Given the description of an element on the screen output the (x, y) to click on. 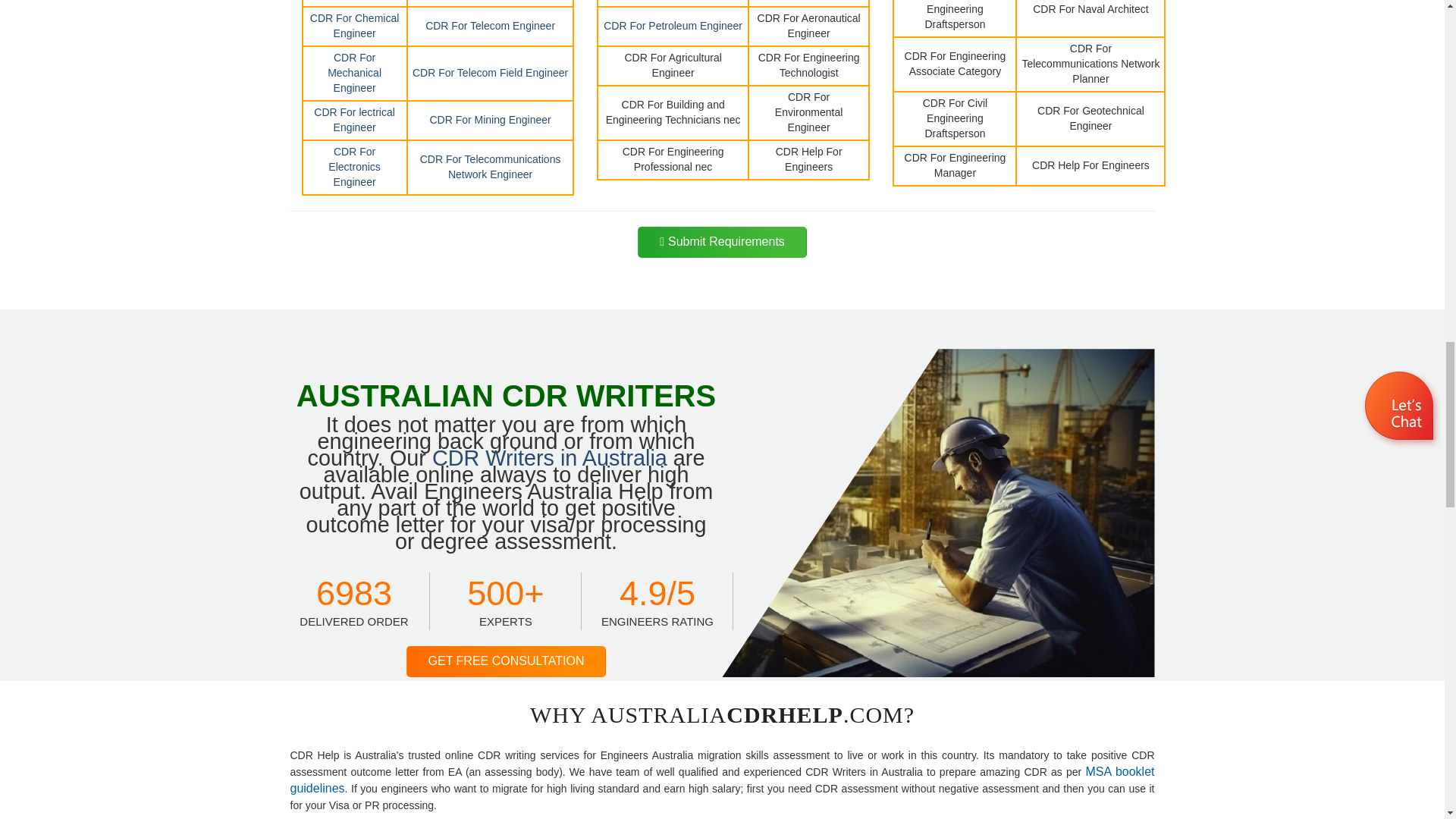
Order Now (721, 241)
Hire Expert's (506, 661)
